Given the description of an element on the screen output the (x, y) to click on. 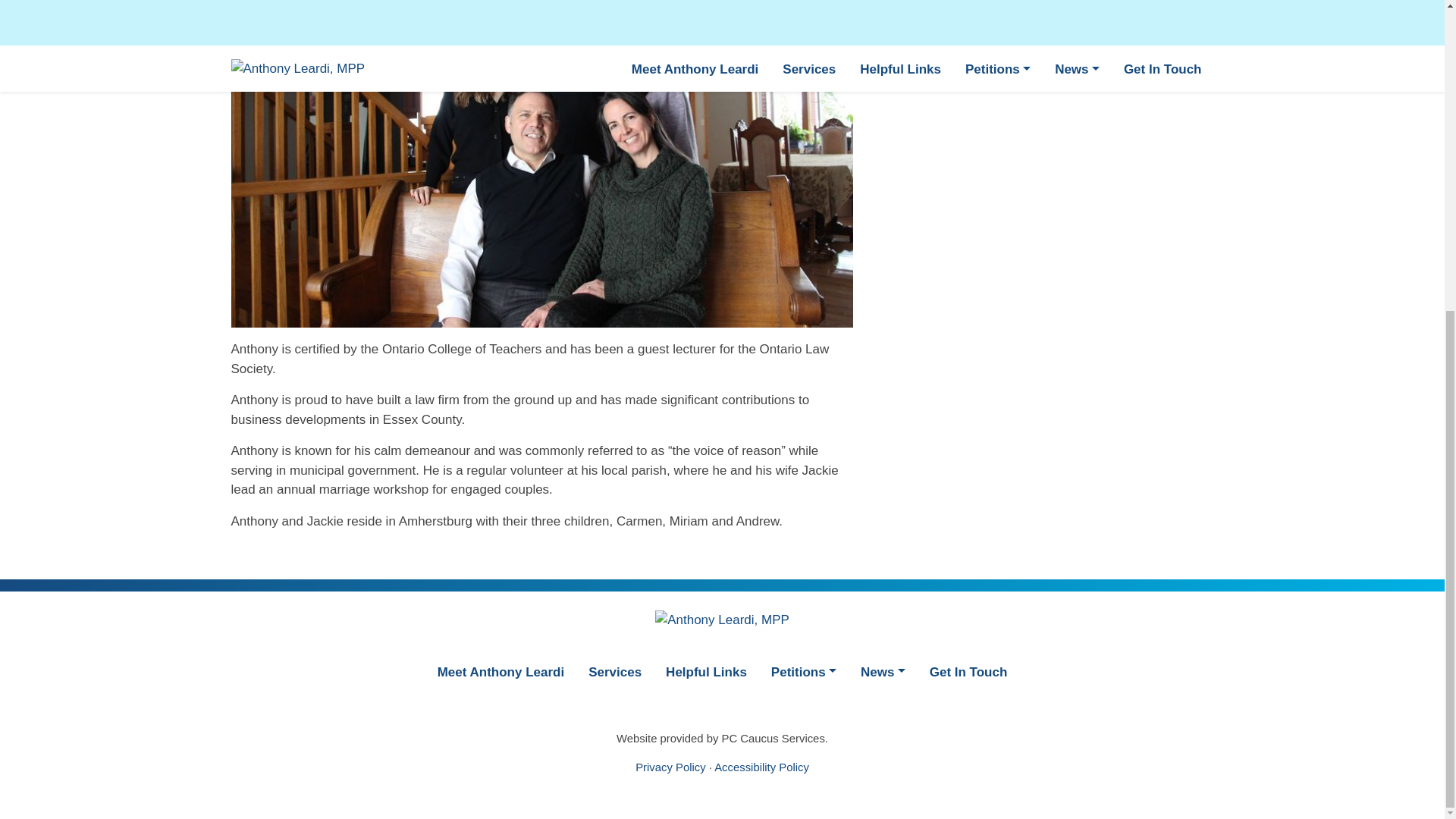
Helpful Links (705, 670)
Get In Touch (968, 670)
News (882, 670)
Meet Anthony Leardi (500, 670)
Services (614, 670)
Privacy Policy (669, 767)
Petitions (803, 670)
Accessibility Policy (761, 767)
